Given the description of an element on the screen output the (x, y) to click on. 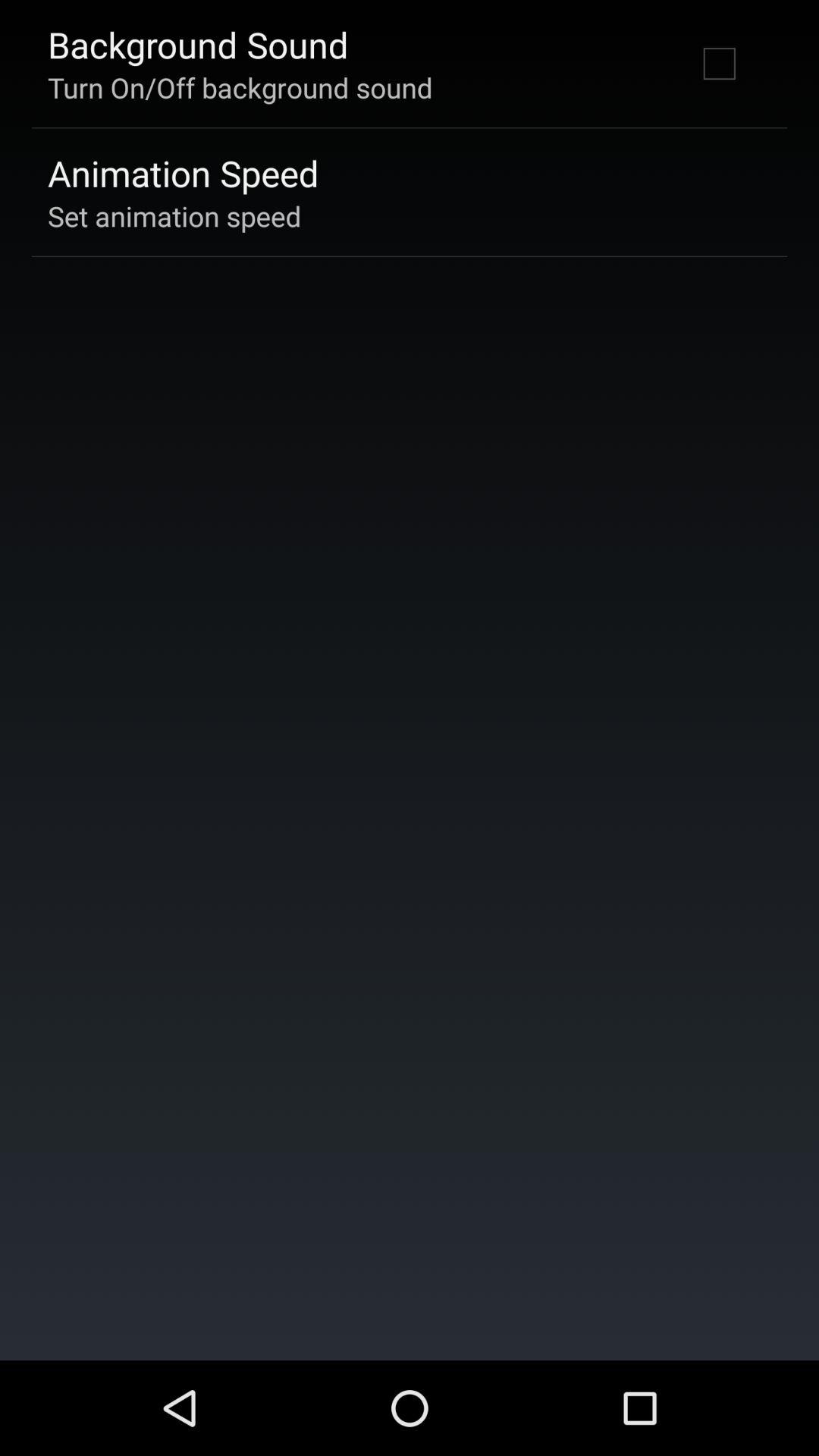
open the icon to the right of turn on off icon (719, 63)
